Given the description of an element on the screen output the (x, y) to click on. 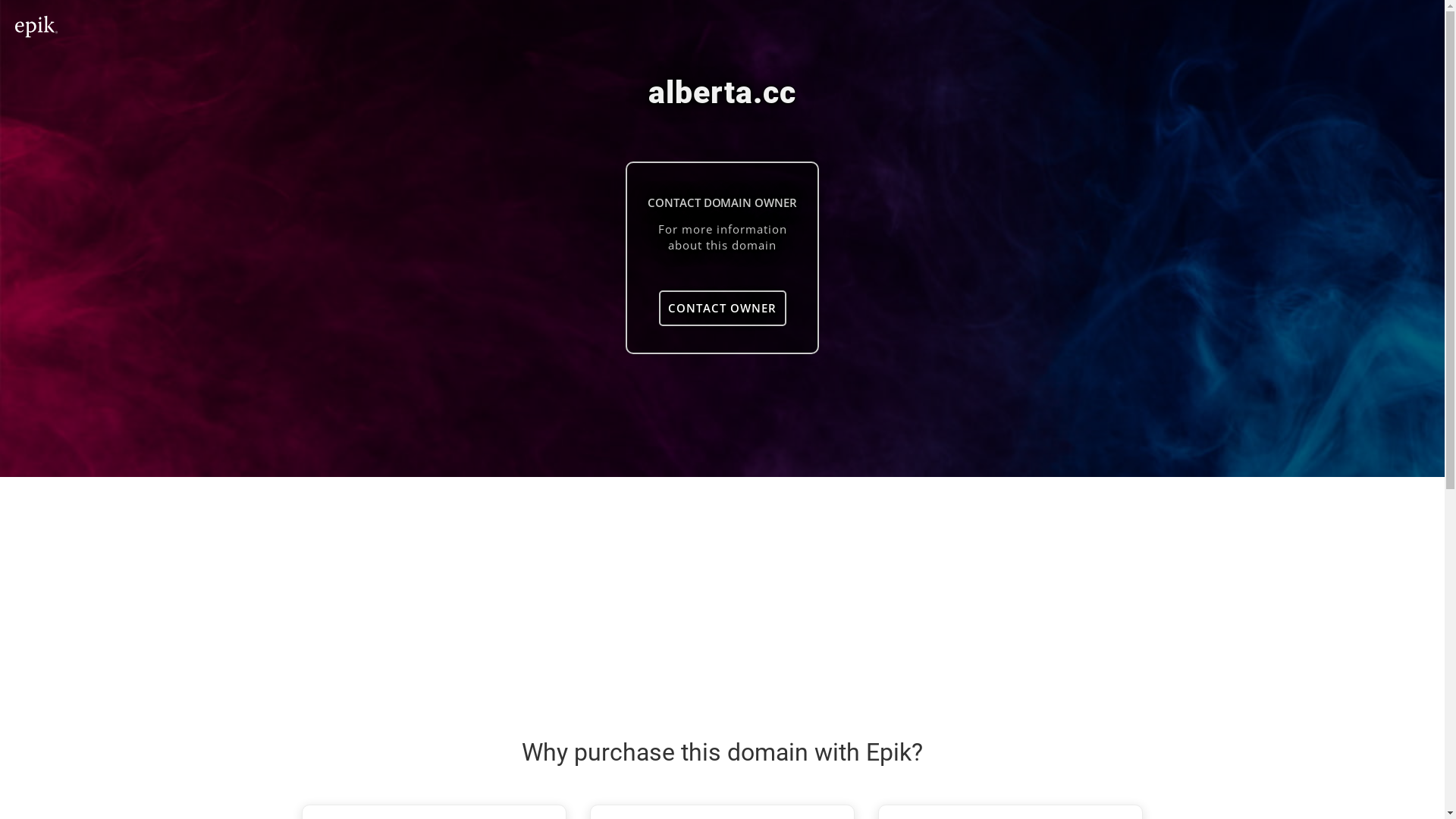
CONTACT OWNER Element type: text (721, 308)
